Given the description of an element on the screen output the (x, y) to click on. 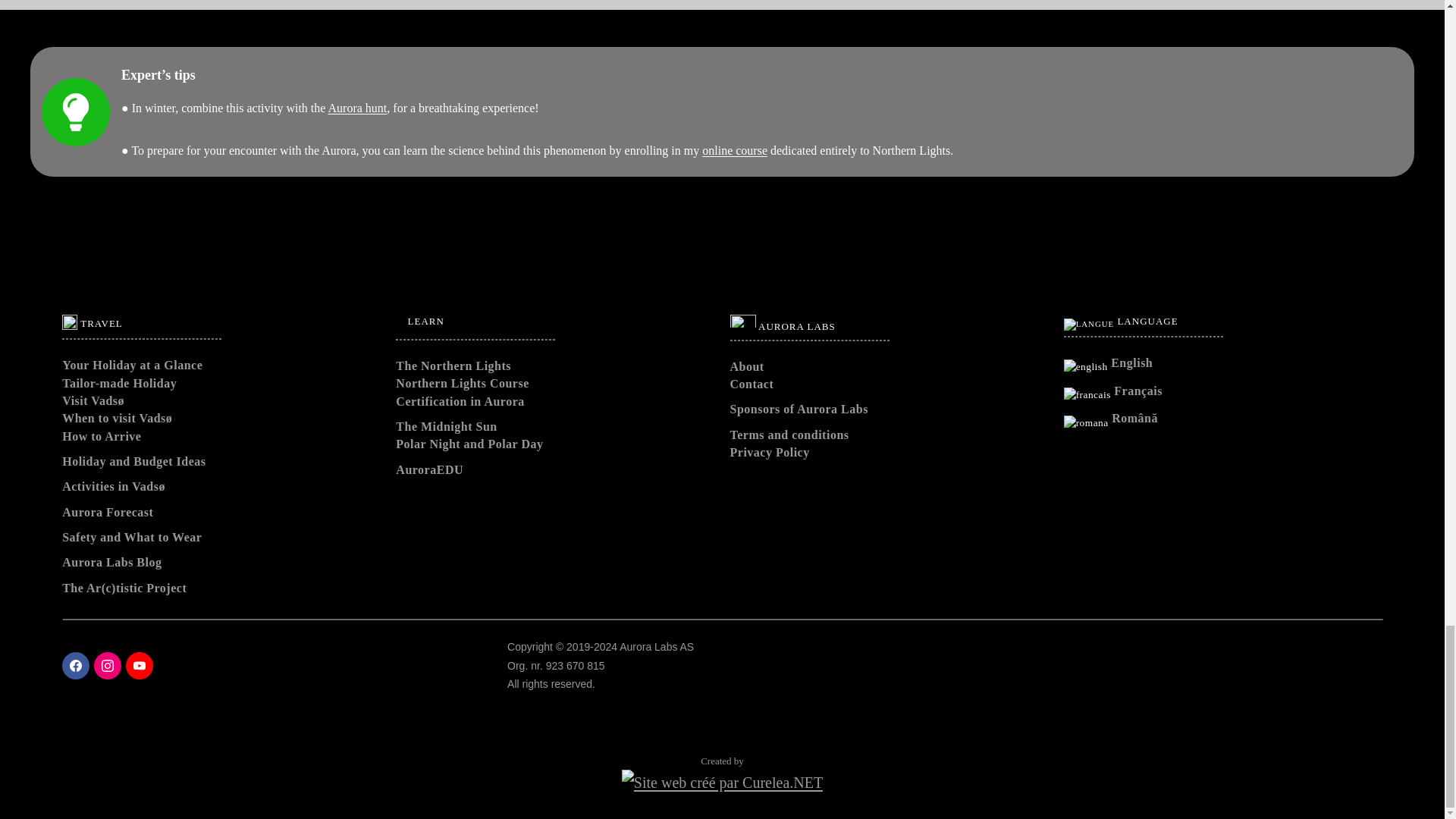
Instagram (107, 665)
Hunt the Aurora (358, 107)
YouTube (138, 665)
Facebook (75, 665)
